Given the description of an element on the screen output the (x, y) to click on. 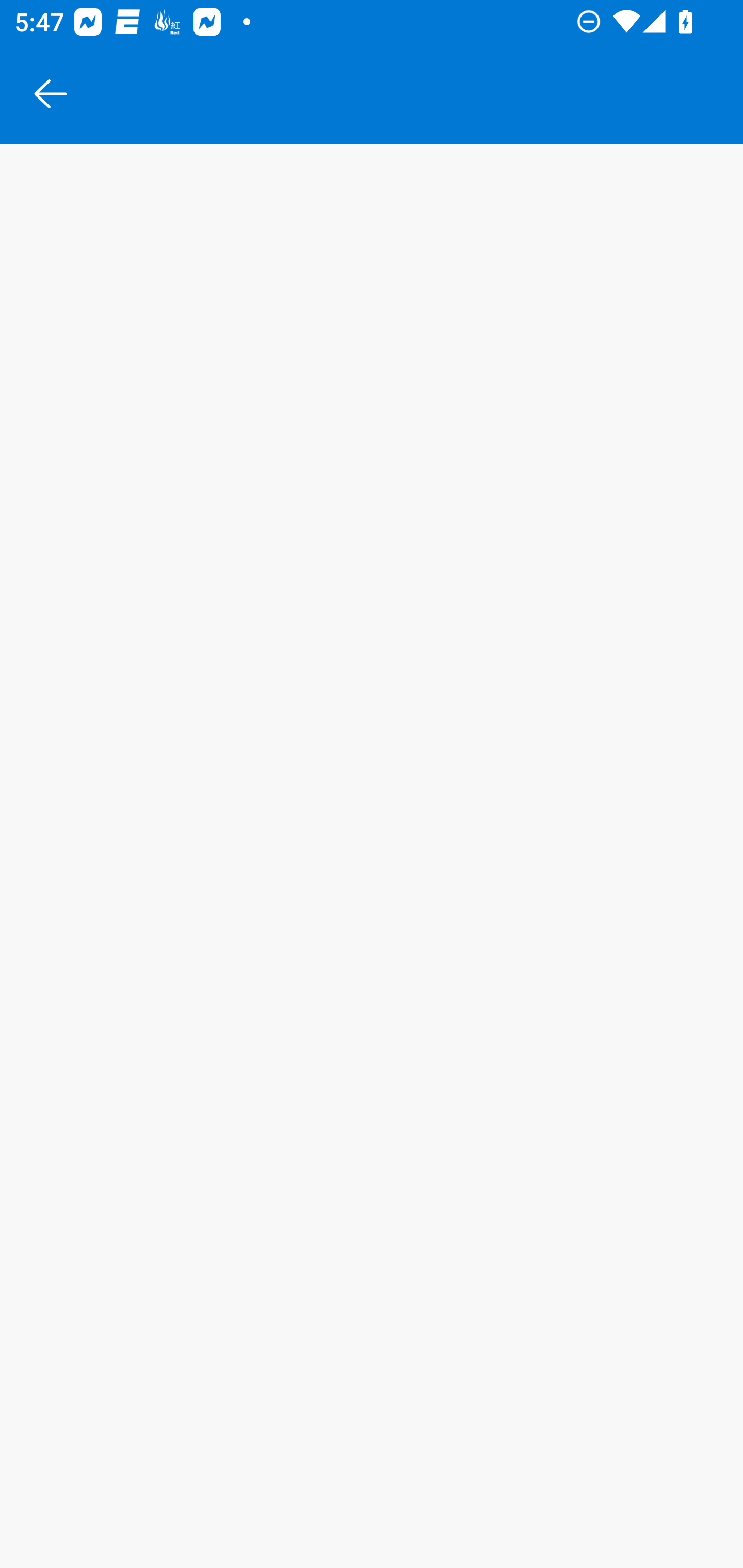
Close (50, 93)
